Given the description of an element on the screen output the (x, y) to click on. 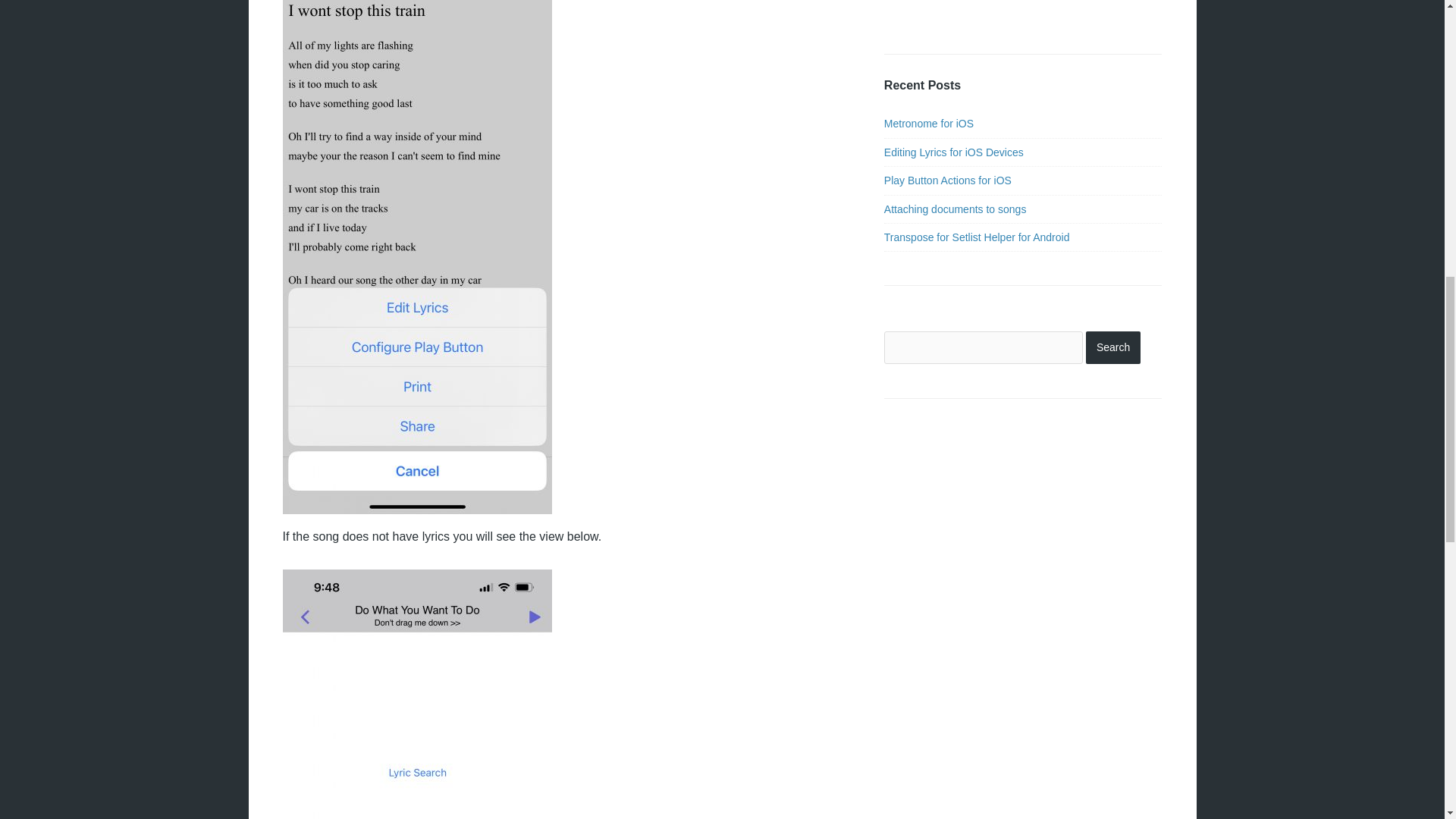
Search (1113, 347)
Search (1113, 347)
Attaching documents to songs (954, 209)
Editing Lyrics for iOS Devices (953, 152)
Play Button Actions for iOS (947, 180)
Transpose for Setlist Helper for Android (976, 236)
Metronome for iOS (928, 123)
Advertisement (929, 12)
Search (1113, 347)
